Given the description of an element on the screen output the (x, y) to click on. 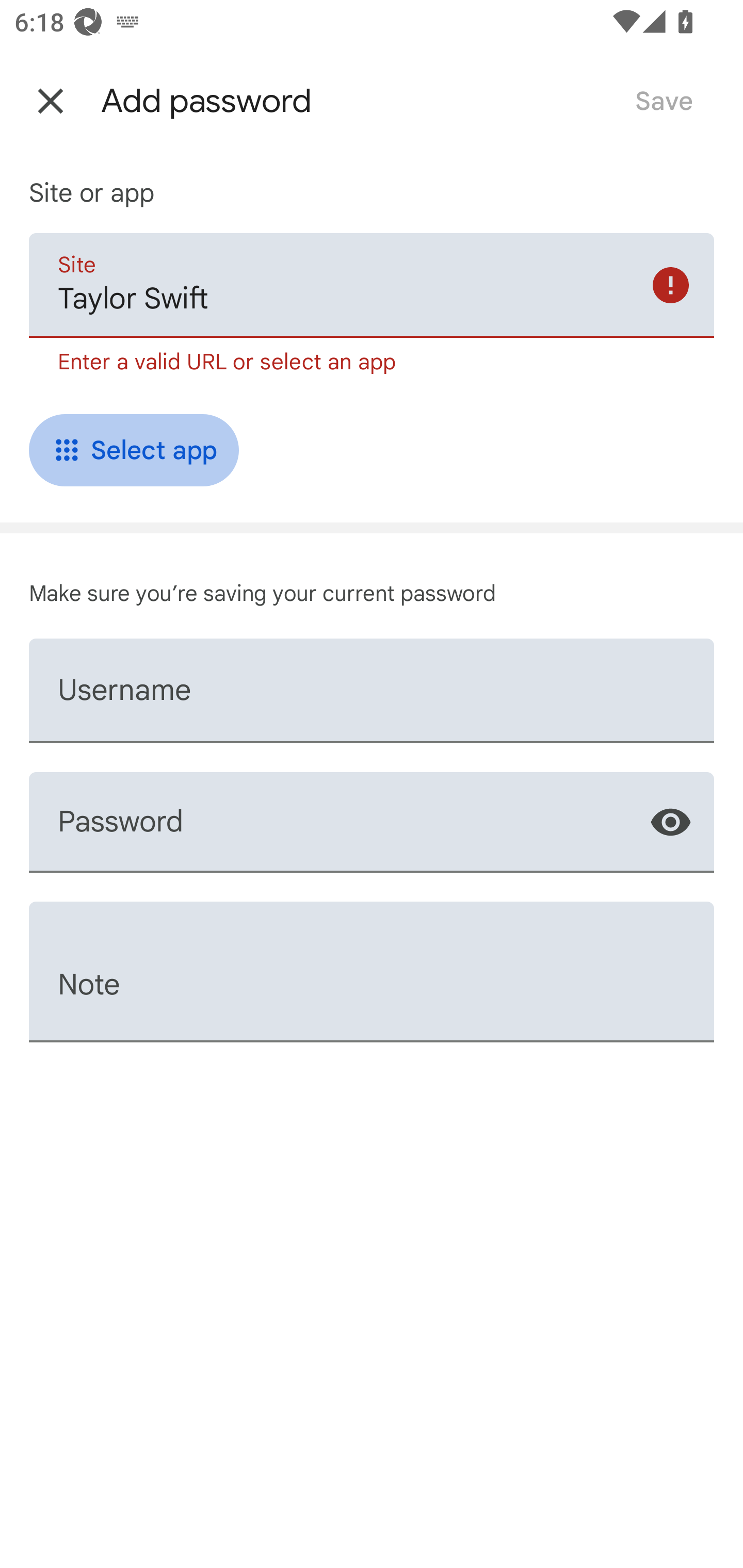
Navigate up (50, 101)
Save (663, 101)
Taylor Swift (371, 285)
Select app (133, 450)
Username (371, 690)
Password (371, 822)
Show password (670, 822)
Note (371, 971)
